Given the description of an element on the screen output the (x, y) to click on. 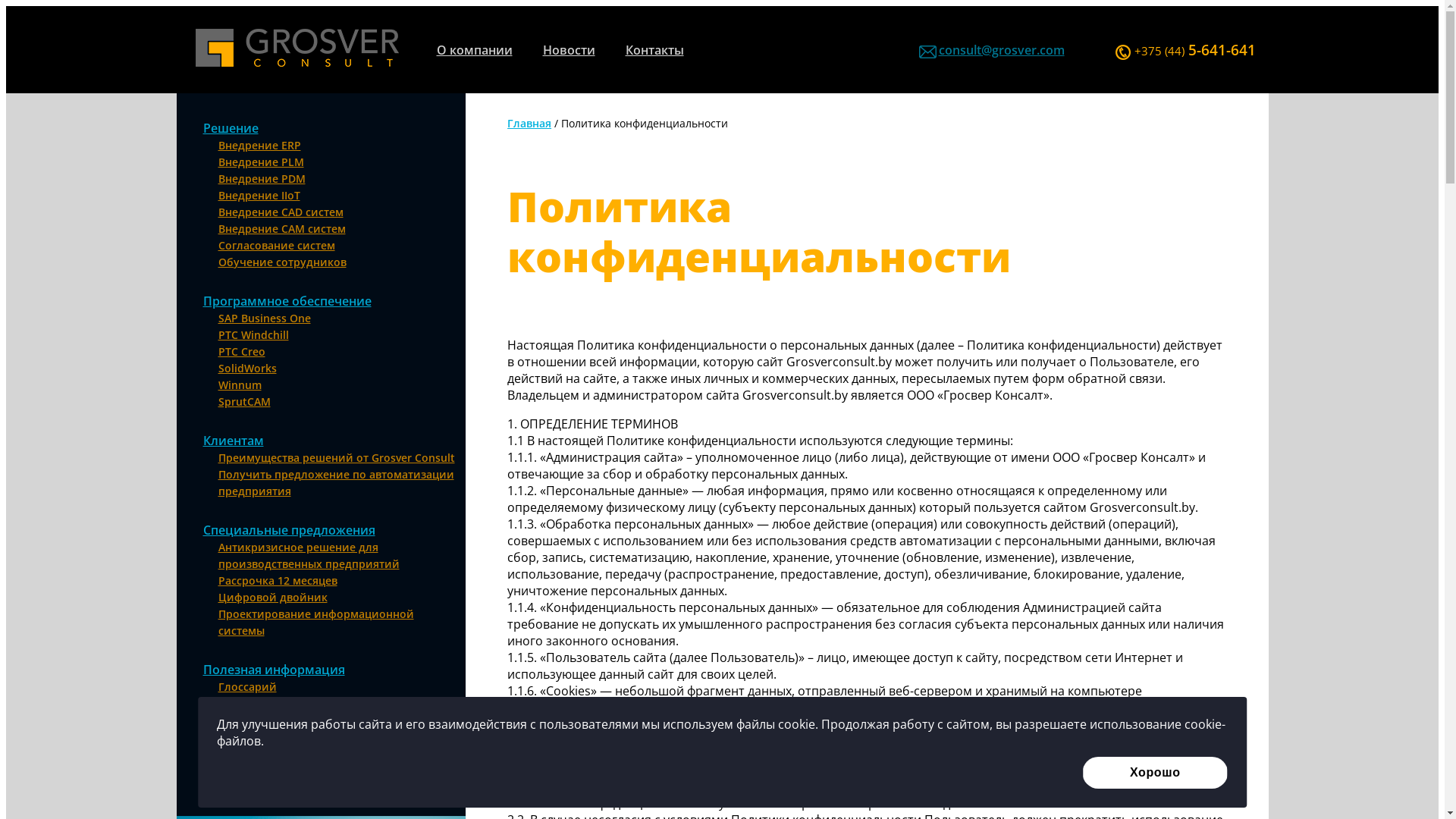
Winnum Element type: text (239, 384)
consult@grosver.com Element type: text (1001, 48)
SAP Business One Element type: text (264, 317)
+375 (44) 5-641-641 Element type: text (1181, 50)
SolidWorks Element type: text (247, 367)
SprutCAM Element type: text (244, 401)
PTC Creo Element type: text (241, 351)
PTC Windchill Element type: text (253, 334)
